Given the description of an element on the screen output the (x, y) to click on. 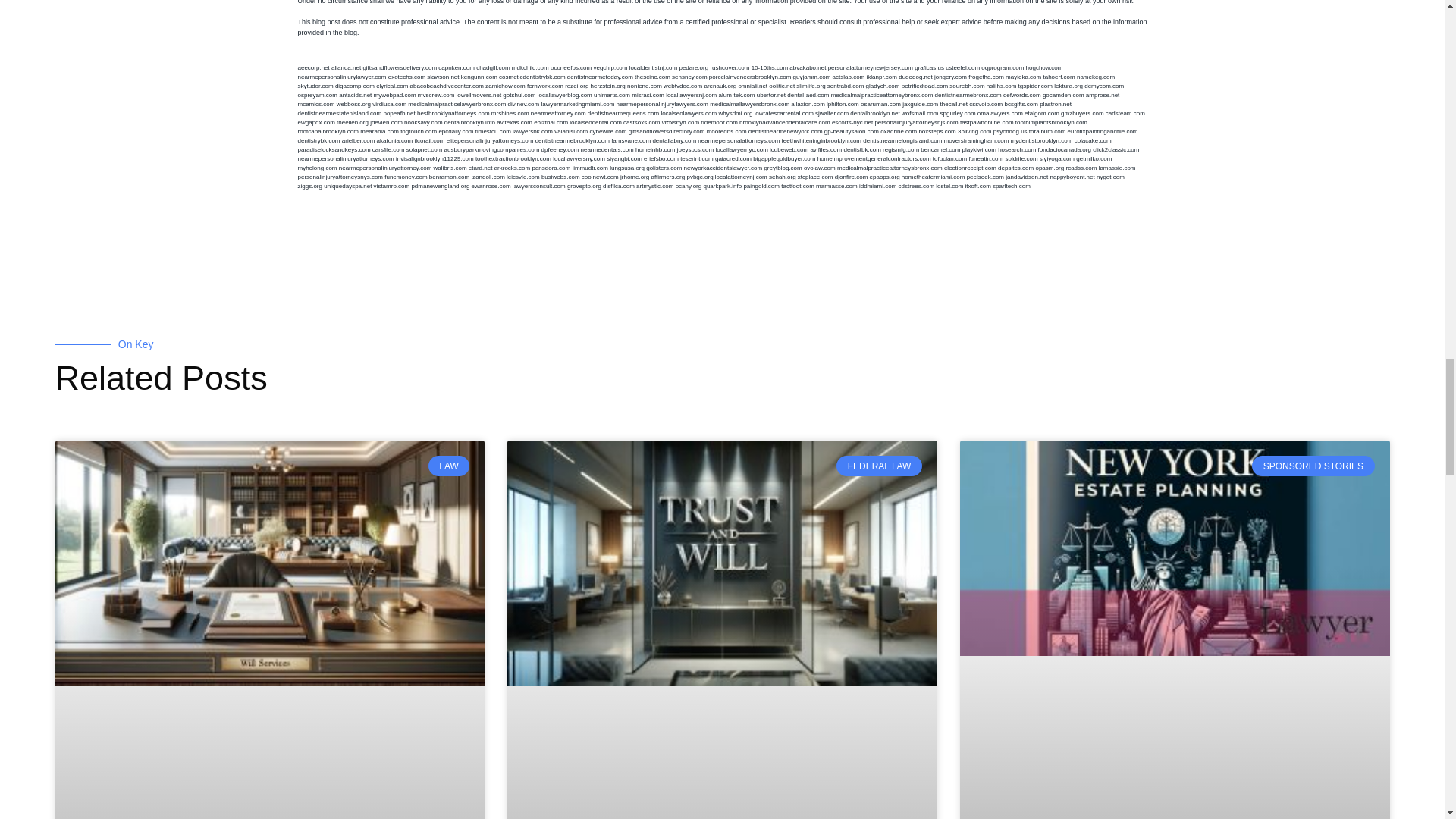
alianda.net (346, 67)
aeecorp.net (313, 67)
kengunn.com (479, 76)
personalattorneynewjersey.com (870, 67)
dentistnearmetoday.com (600, 76)
giftsandflowersdelivery.com (399, 67)
chadgill.com (492, 67)
hogchow.com (1044, 67)
sensney.com (689, 76)
exotechs.com (406, 76)
